Given the description of an element on the screen output the (x, y) to click on. 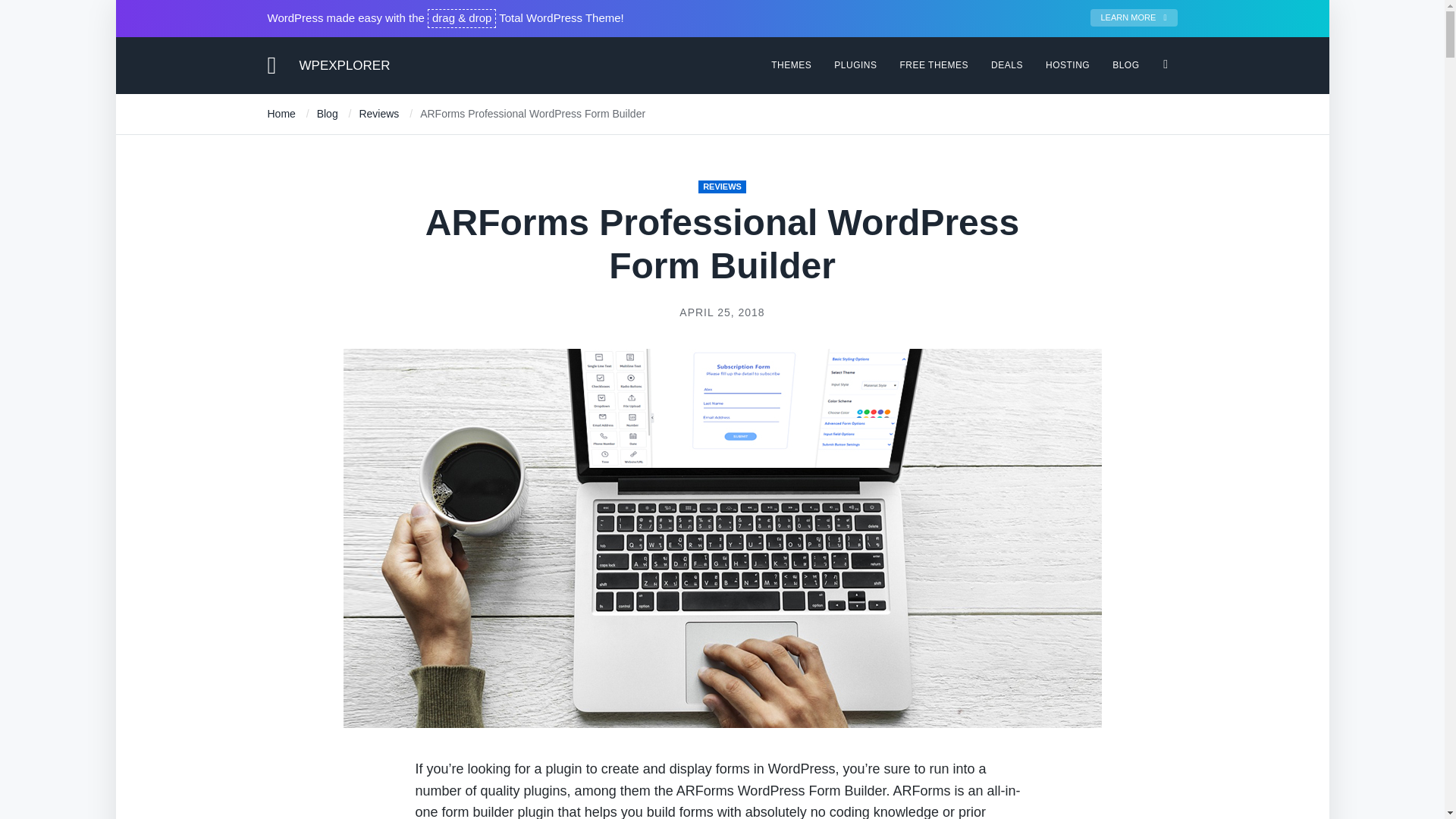
FREE THEMES (933, 64)
Blog (327, 113)
Reviews (378, 113)
Home (280, 113)
WPEXPLORER (344, 64)
